Given the description of an element on the screen output the (x, y) to click on. 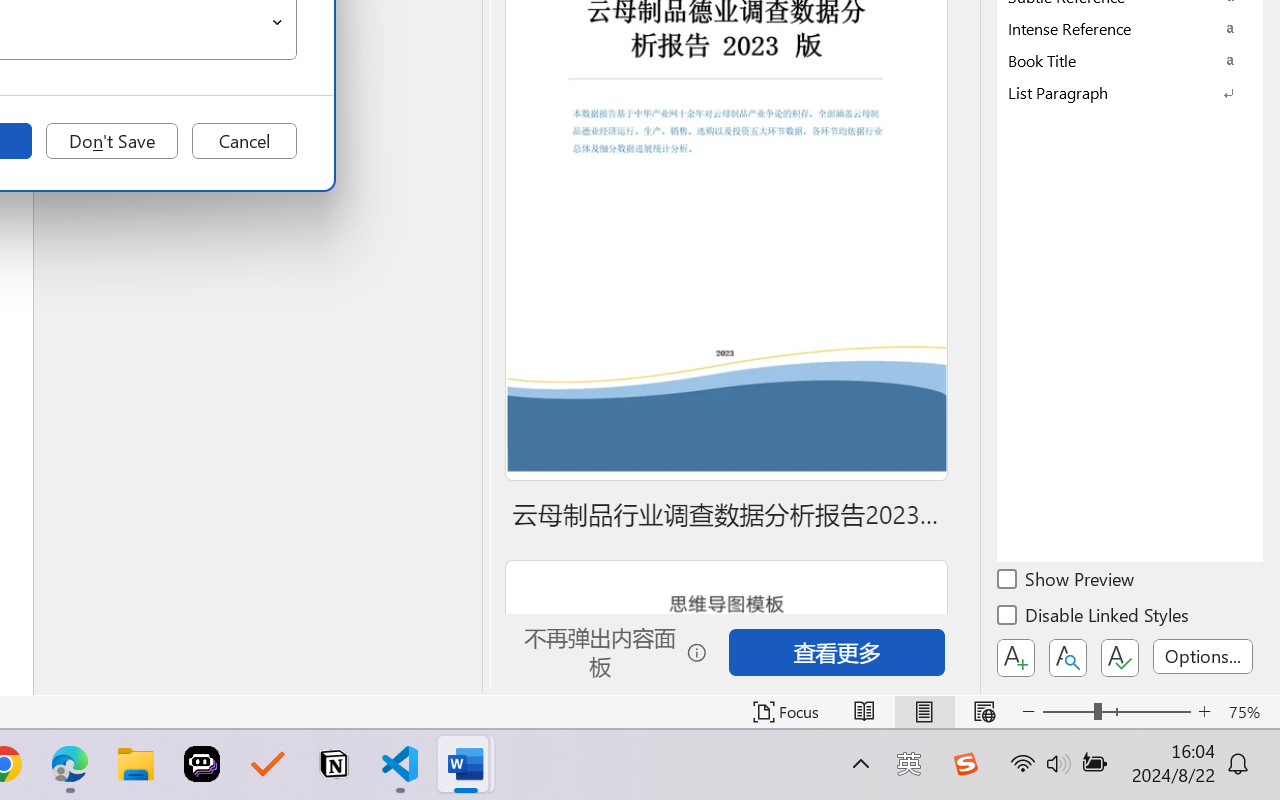
Zoom Out (1067, 712)
Print Layout (924, 712)
Class: NetUIButton (1119, 657)
Show Preview (1067, 582)
Focus  (786, 712)
Don't Save (111, 141)
Zoom In (1204, 712)
